Given the description of an element on the screen output the (x, y) to click on. 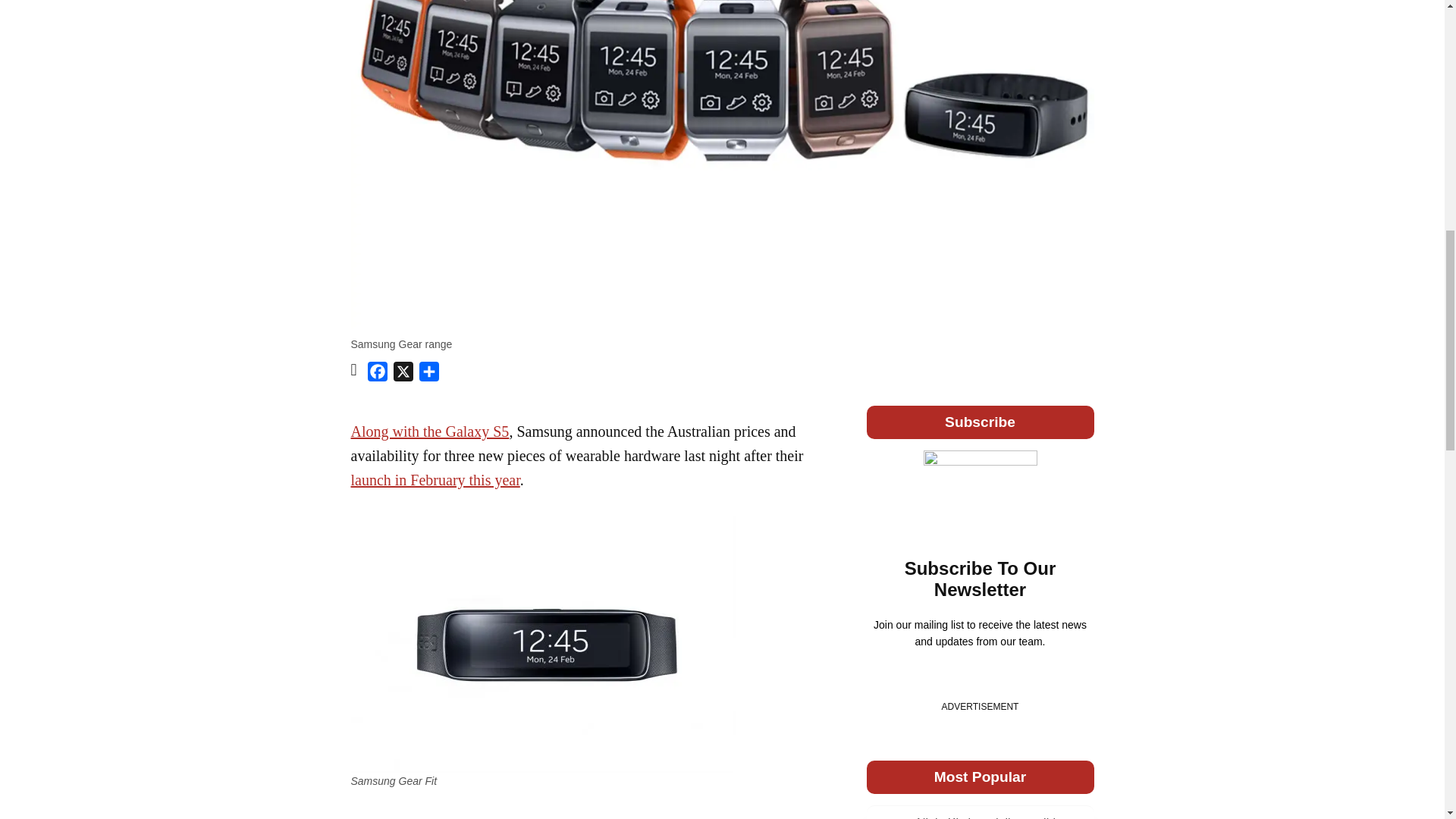
Facebook (377, 374)
Facebook (377, 374)
X (403, 374)
